Given the description of an element on the screen output the (x, y) to click on. 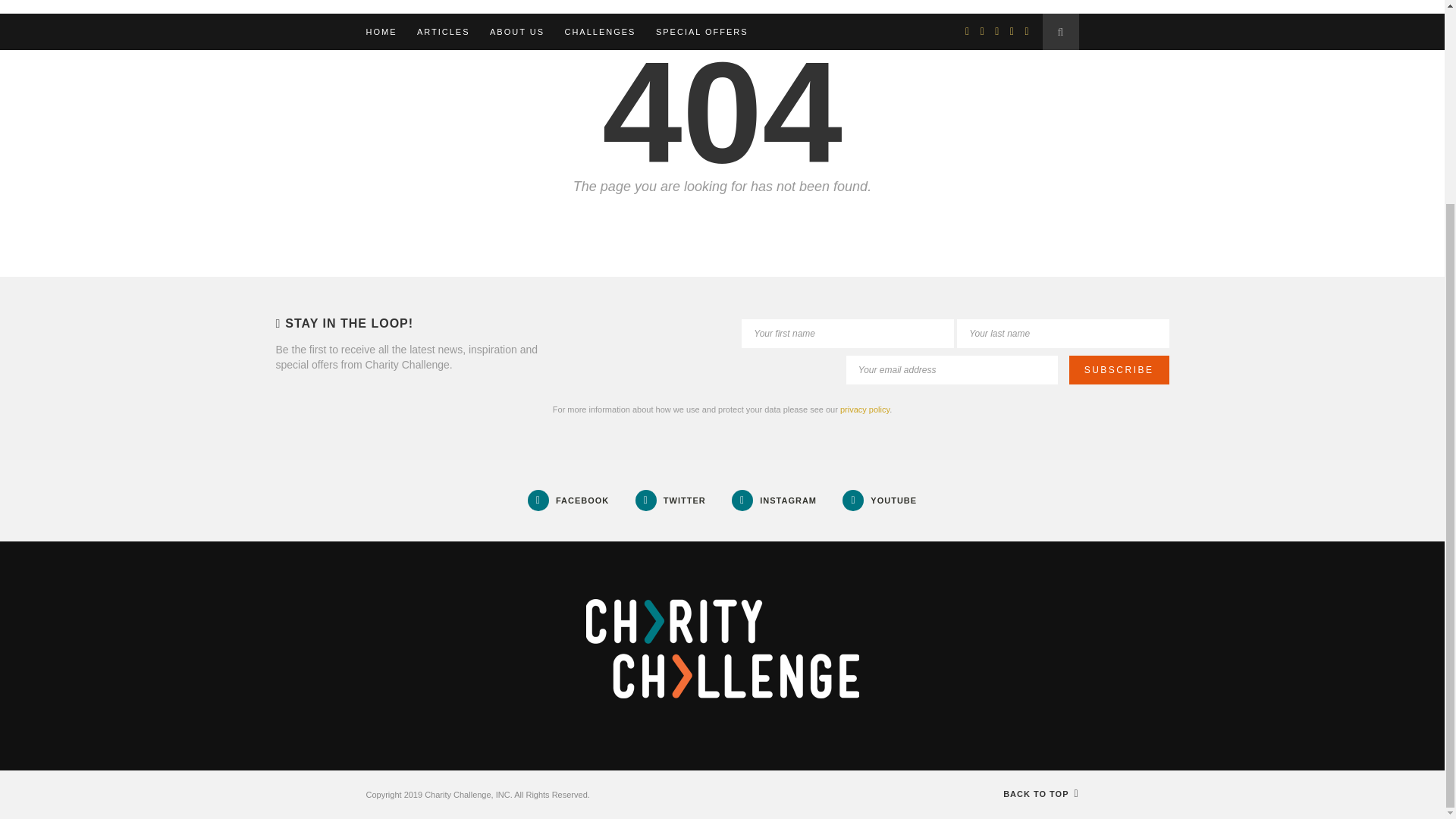
Subscribe (1118, 369)
TWITTER (670, 500)
FACEBOOK (567, 500)
INSTAGRAM (774, 500)
YOUTUBE (880, 500)
Subscribe (1118, 369)
BACK TO TOP (1040, 793)
privacy policy (864, 409)
